Given the description of an element on the screen output the (x, y) to click on. 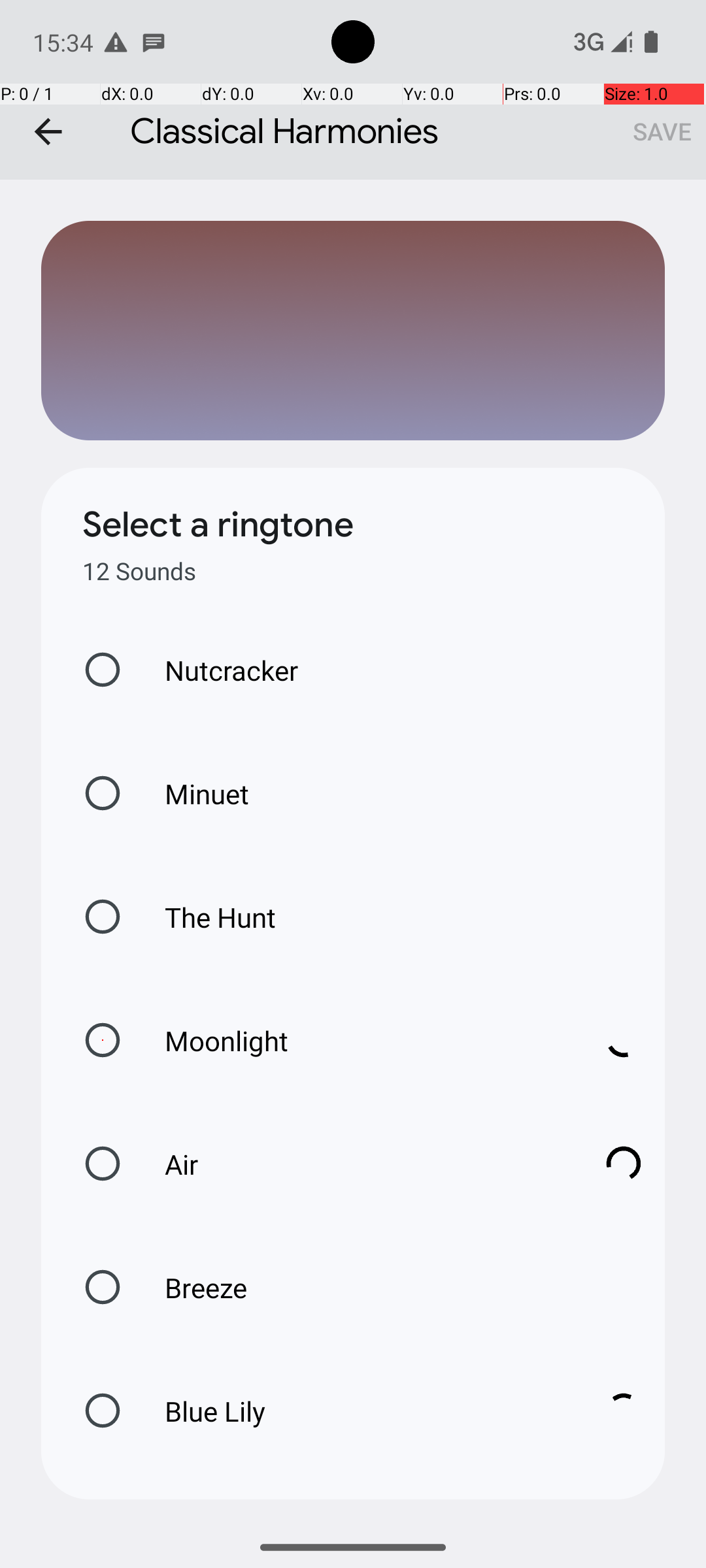
Classical Harmonies Element type: android.widget.FrameLayout (353, 89)
Select a ringtone Element type: android.widget.TextView (217, 524)
12 Sounds Element type: android.widget.TextView (139, 570)
Nutcracker Element type: android.widget.TextView (217, 669)
Minuet Element type: android.widget.TextView (193, 793)
The Hunt Element type: android.widget.TextView (206, 916)
Moonlight Element type: android.widget.TextView (359, 1040)
Download in progress Element type: android.widget.ImageView (623, 1039)
Air Element type: android.widget.TextView (359, 1163)
Breeze Element type: android.widget.TextView (192, 1287)
Blue Lily Element type: android.widget.TextView (359, 1410)
